Given the description of an element on the screen output the (x, y) to click on. 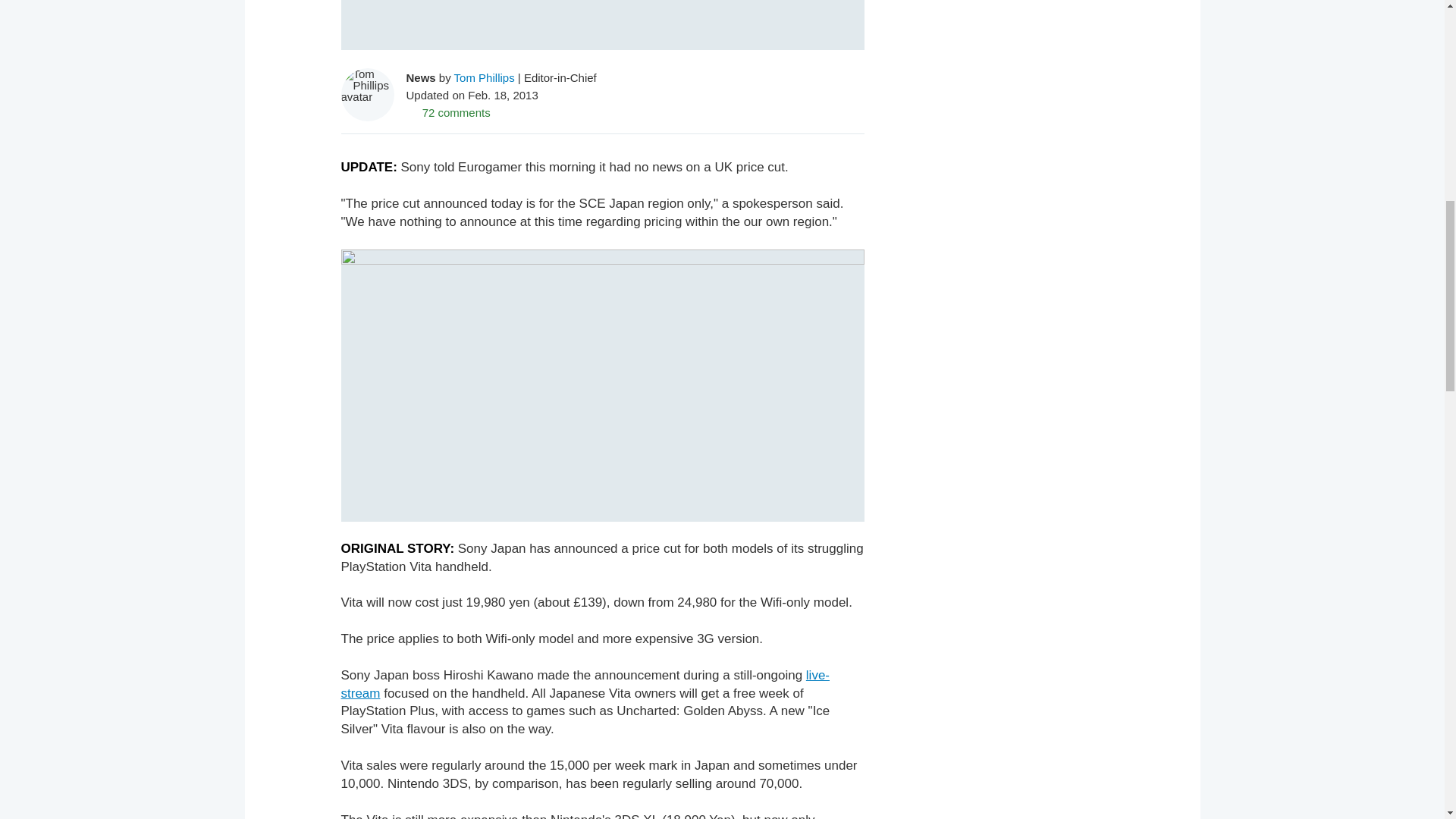
live-stream (584, 684)
72 comments (448, 112)
Tom Phillips (484, 77)
